Given the description of an element on the screen output the (x, y) to click on. 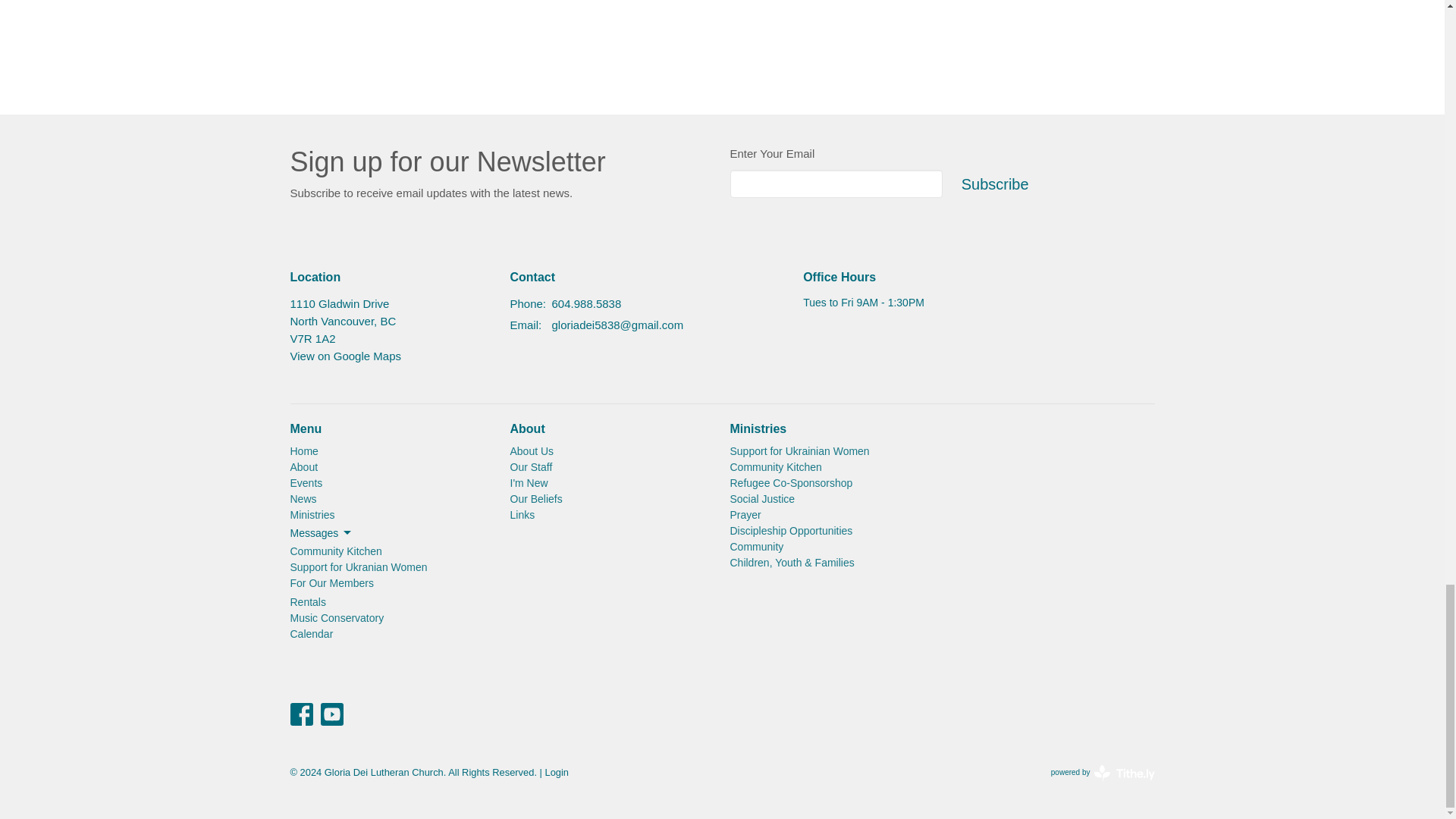
604.988.5838 (586, 303)
translation missing: en.ui.email (523, 324)
Subscribe (995, 184)
View on Google Maps (344, 355)
